Given the description of an element on the screen output the (x, y) to click on. 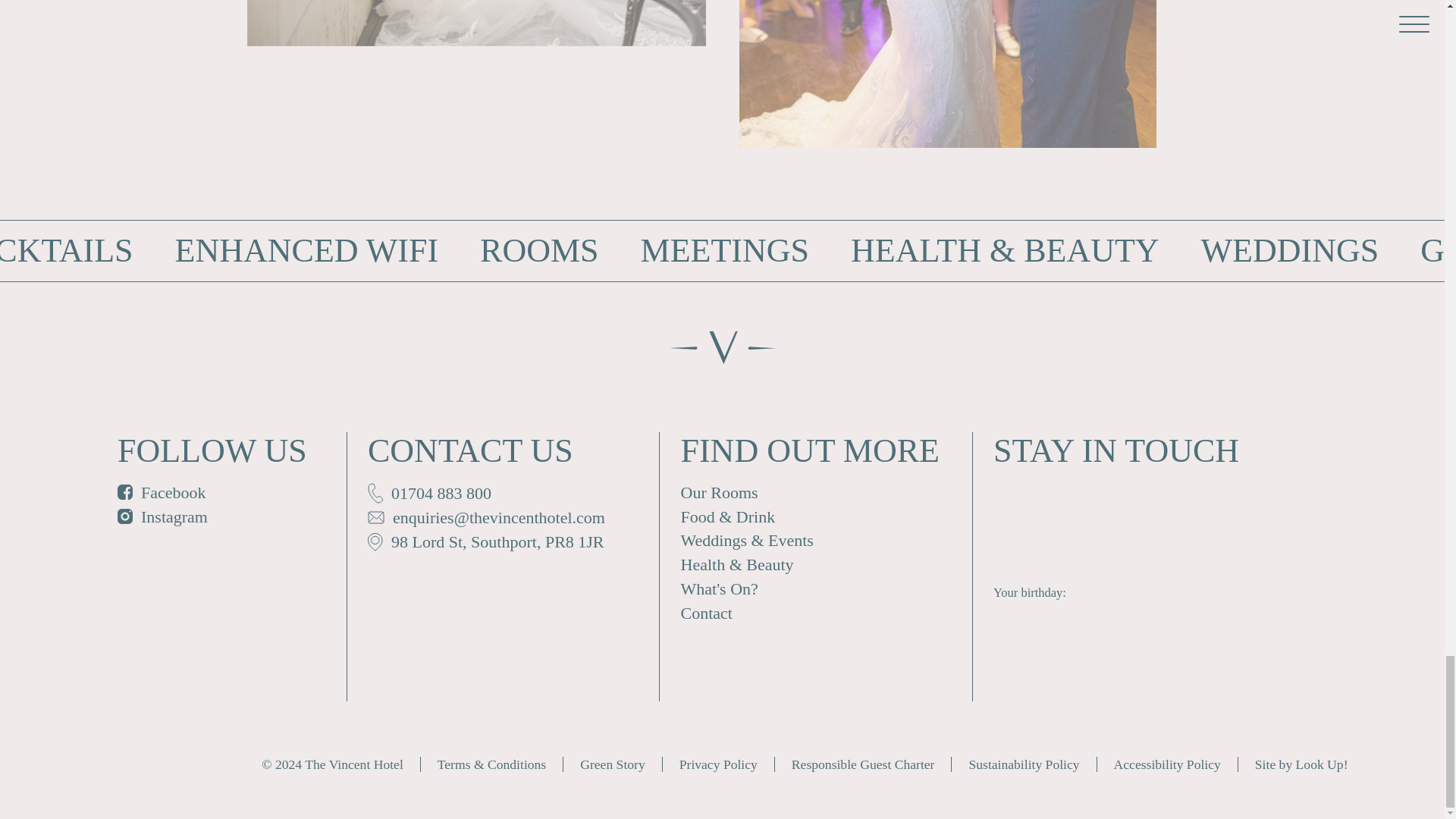
Meetings (724, 251)
Weddings (1289, 251)
COCKTAILS (66, 251)
Rooms (539, 251)
Enhanced Wifi (306, 251)
MEETINGS (724, 251)
WEDDINGS (1289, 251)
Cocktails (66, 251)
ENHANCED WIFI (306, 251)
GIFT VOUCHERS (1438, 251)
ROOMS (539, 251)
